Given the description of an element on the screen output the (x, y) to click on. 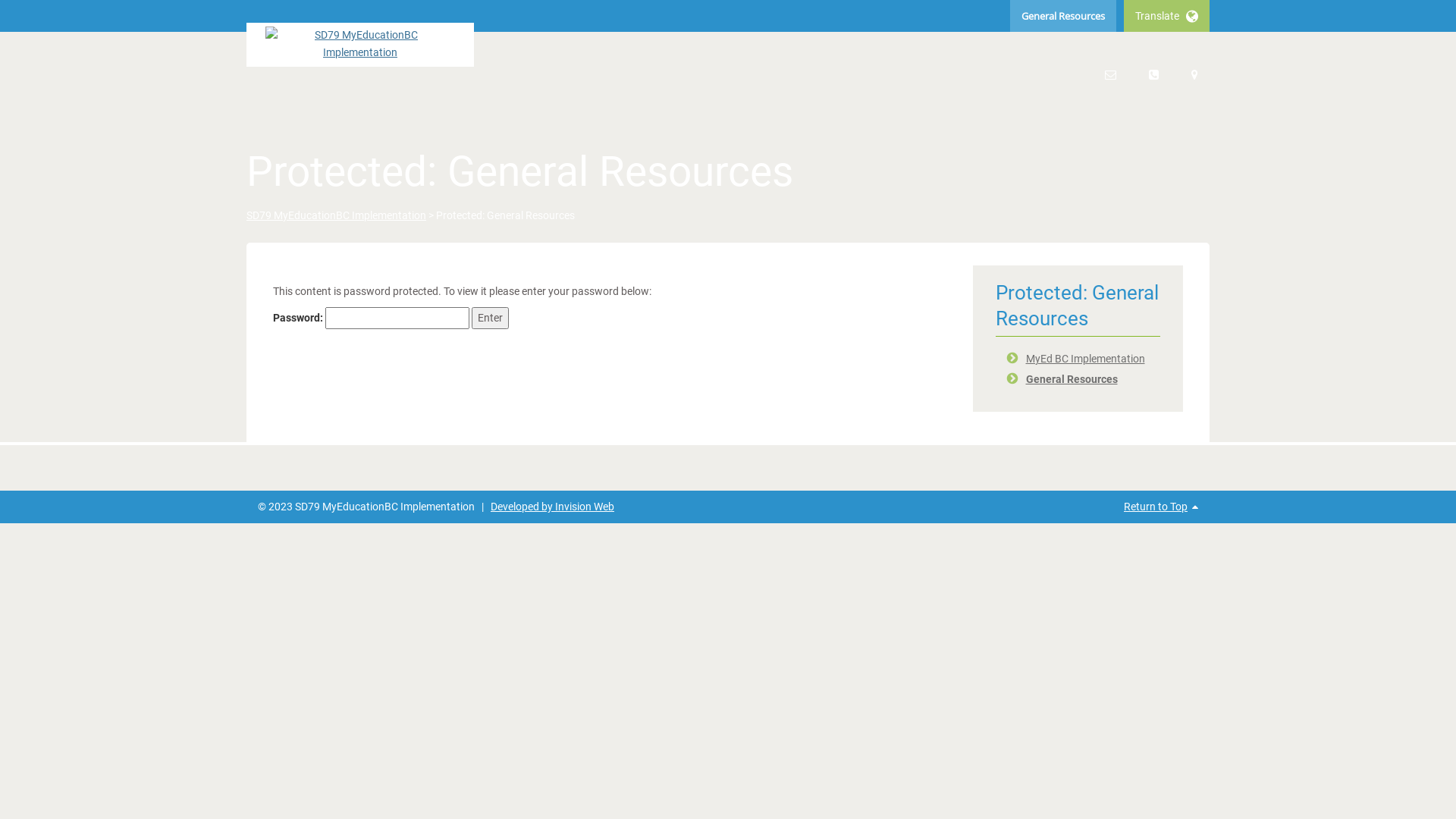
Developed by Invision Web Element type: text (552, 506)
MyEd BC Implementation Element type: text (1084, 358)
Enter Element type: text (489, 317)
Return to Top Element type: text (1155, 506)
General Resources Element type: text (1063, 15)
SD79 MyEducationBC Implementation Element type: text (336, 215)
Translate   Element type: text (1166, 15)
General Resources Element type: text (1071, 379)
